Given the description of an element on the screen output the (x, y) to click on. 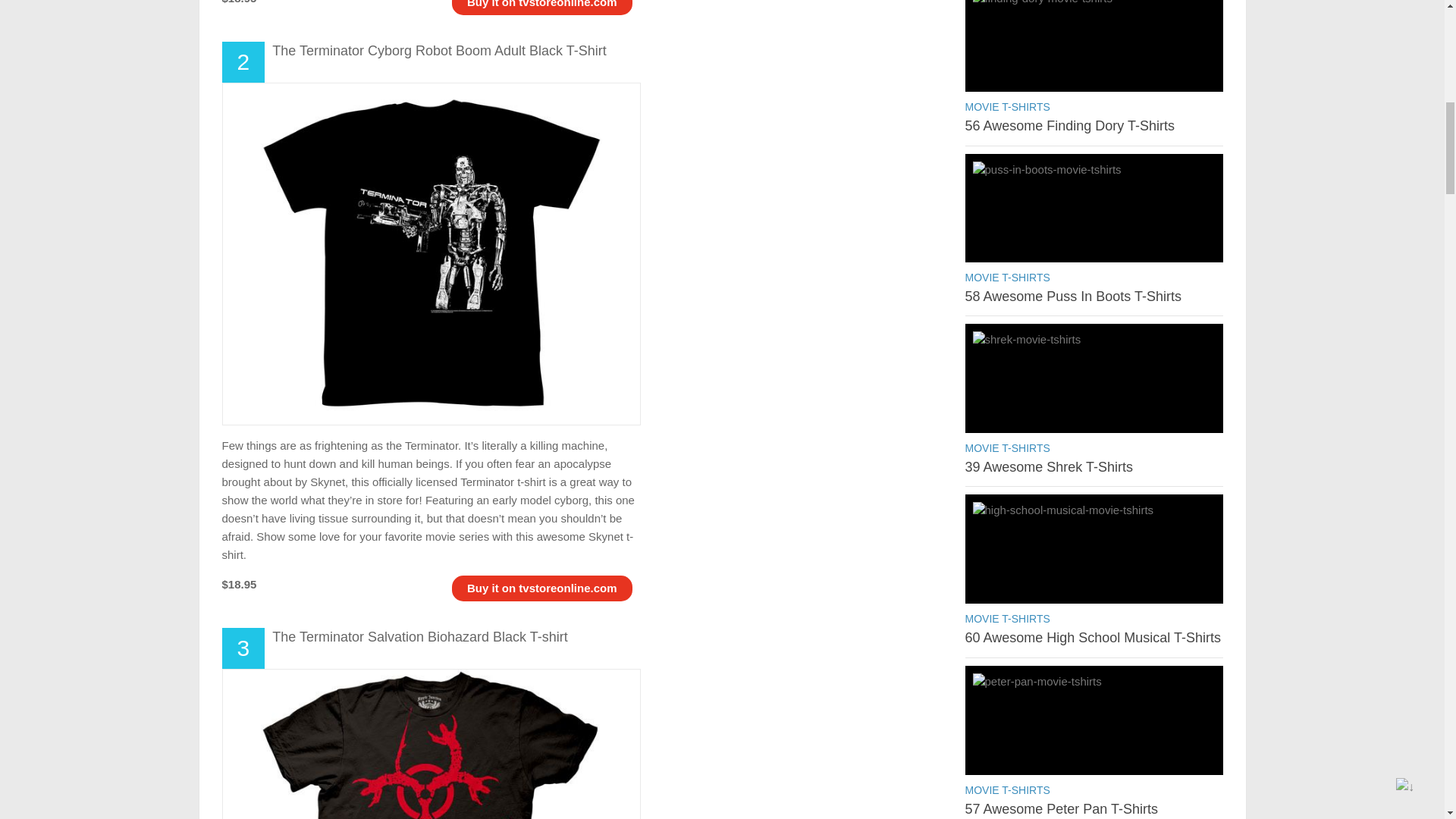
60 Awesome High School Musical T-Shirts (1093, 549)
Buy it on tvstoreonline.com (542, 587)
Buy it on tvstoreonline.com (542, 4)
56 Awesome Finding Dory T-Shirts (1068, 125)
58 Awesome Puss In Boots T-Shirts (1071, 296)
39 Awesome Shrek T-Shirts (1047, 467)
57 Awesome Peter Pan T-Shirts (1093, 720)
56 Awesome Finding Dory T-Shirts (1093, 42)
39 Awesome Shrek T-Shirts (1093, 378)
60 Awesome High School Musical T-Shirts (1092, 637)
